Given the description of an element on the screen output the (x, y) to click on. 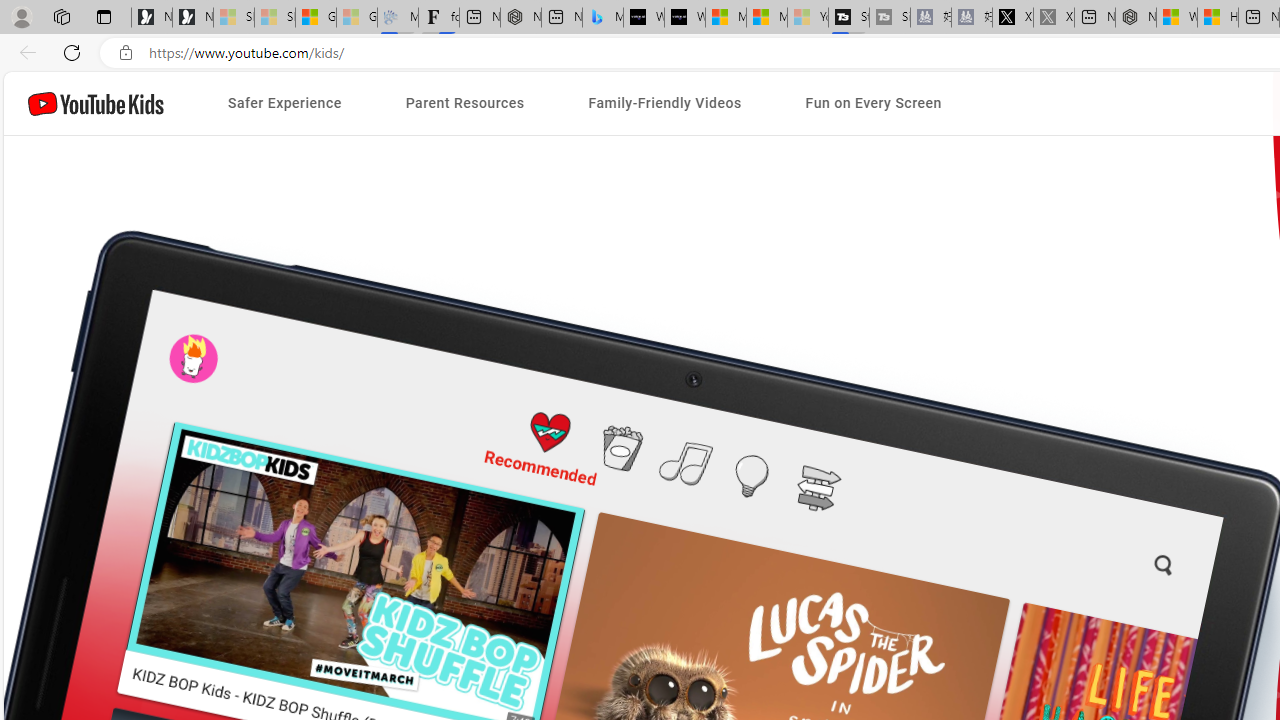
Parent Resources (464, 103)
Microsoft Bing Travel - Shangri-La Hotel Bangkok (602, 17)
X (1012, 17)
Nordace - My Account (1135, 17)
YouTube Kids (95, 102)
Family-Friendly Videos (664, 103)
Wildlife - MSN (1176, 17)
YouTube Kids (95, 102)
X - Sleeping (1053, 17)
